Given the description of an element on the screen output the (x, y) to click on. 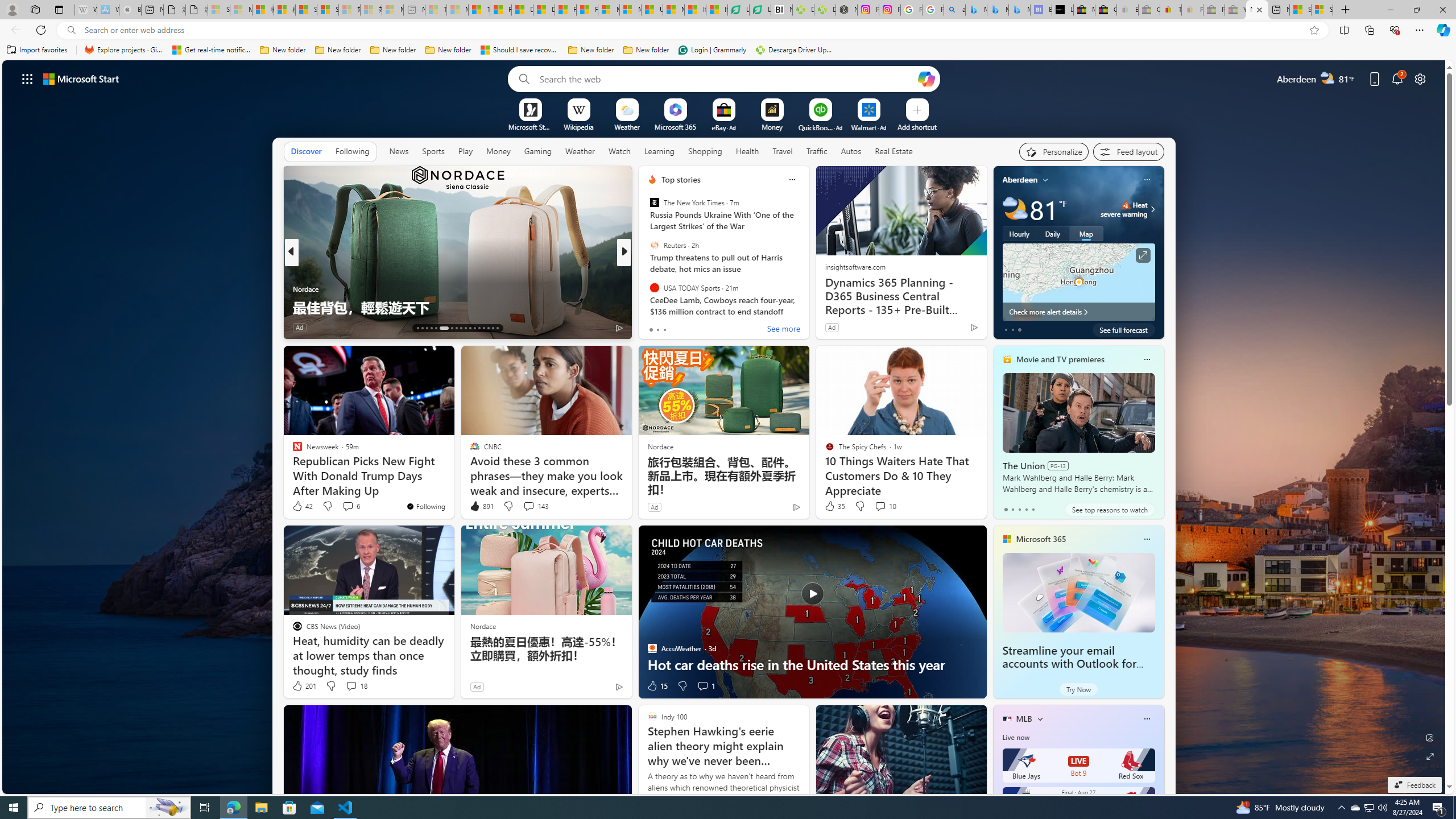
Movie and TV premieres (1060, 359)
42 Like (301, 505)
Microsoft account | Account Checkup - Sleeping (392, 9)
AutomationID: tab-15 (426, 328)
Reuters (654, 245)
You're following Newsweek (425, 505)
AutomationID: tab-30 (483, 328)
Hey She Thrives (647, 288)
Buy iPad - Apple - Sleeping (130, 9)
Microsoft Bing Travel - Flights from Hong Kong to Bangkok (975, 9)
